Given the description of an element on the screen output the (x, y) to click on. 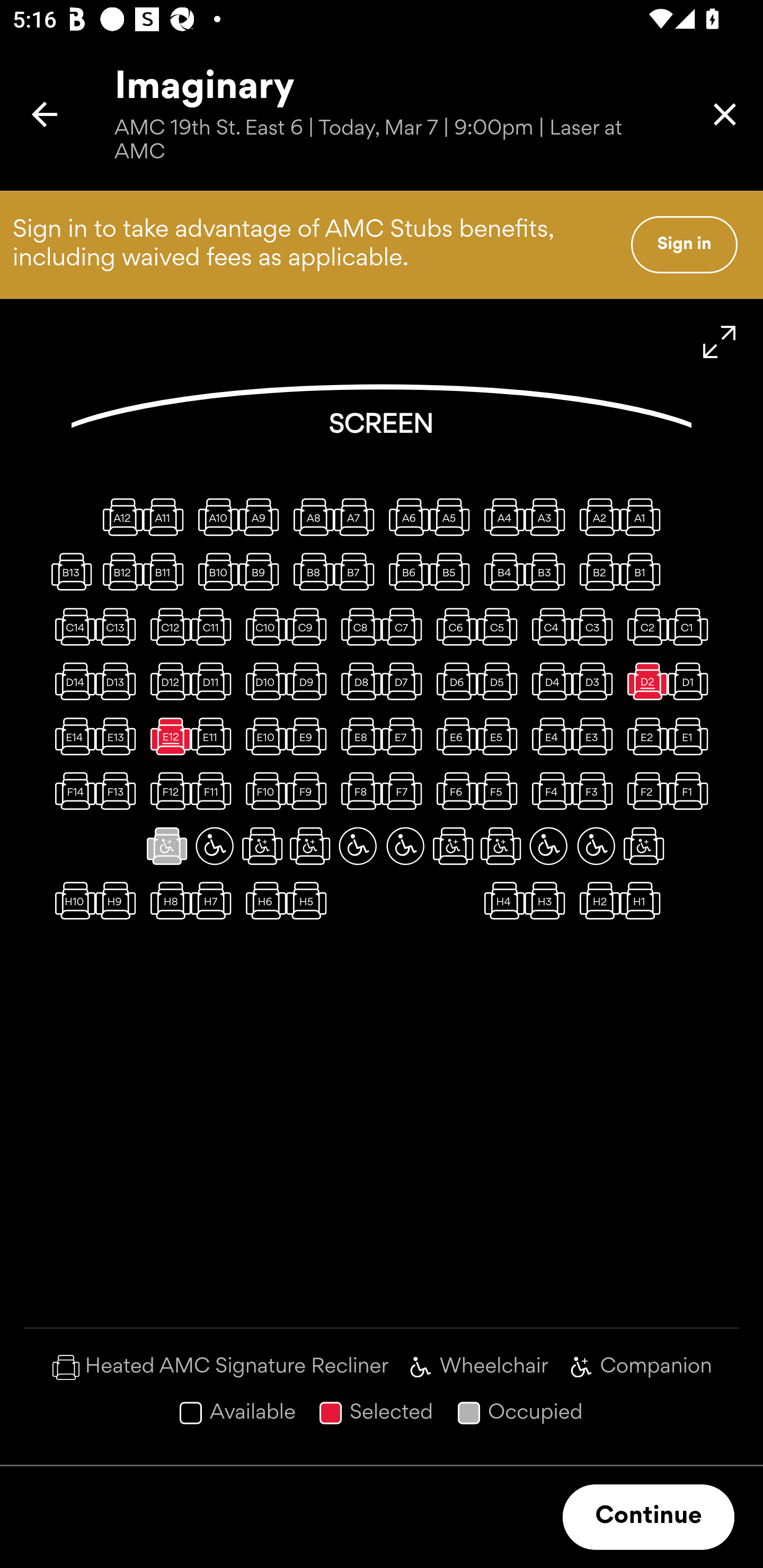
Back (44, 114)
Close (724, 114)
Sign in (684, 244)
Zoom (719, 342)
A12, Regular seat, available (119, 516)
A11, Regular seat, available (166, 516)
A10, Regular seat, available (214, 516)
A9, Regular seat, available (262, 516)
A8, Regular seat, available (310, 516)
A7, Regular seat, available (357, 516)
A6, Regular seat, available (404, 516)
A5, Regular seat, available (452, 516)
A4, Regular seat, available (500, 516)
A3, Regular seat, available (548, 516)
A2, Regular seat, available (595, 516)
A1, Regular seat, available (643, 516)
B13, Regular seat, available (71, 571)
B12, Regular seat, available (119, 571)
B11, Regular seat, available (166, 571)
B10, Regular seat, available (214, 571)
B9, Regular seat, available (262, 571)
B8, Regular seat, available (310, 571)
B7, Regular seat, available (357, 571)
B6, Regular seat, available (404, 571)
B5, Regular seat, available (452, 571)
B4, Regular seat, available (500, 571)
B3, Regular seat, available (548, 571)
B2, Regular seat, available (595, 571)
B1, Regular seat, available (643, 571)
C14, Regular seat, available (71, 625)
C13, Regular seat, available (119, 625)
C12, Regular seat, available (166, 625)
C11, Regular seat, available (214, 625)
C10, Regular seat, available (262, 625)
C9, Regular seat, available (310, 625)
C8, Regular seat, available (357, 625)
C7, Regular seat, available (404, 625)
C6, Regular seat, available (452, 625)
C5, Regular seat, available (500, 625)
C4, Regular seat, available (548, 625)
C3, Regular seat, available (595, 625)
C2, Regular seat, available (643, 625)
C1, Regular seat, available (691, 625)
D14, Regular seat, available (71, 680)
D13, Regular seat, available (119, 680)
D12, Regular seat, available (166, 680)
D11, Regular seat, available (214, 680)
D10, Regular seat, available (262, 680)
D9, Regular seat, available (310, 680)
D8, Regular seat, available (357, 680)
D7, Regular seat, available (404, 680)
D6, Regular seat, available (452, 680)
D5, Regular seat, available (500, 680)
D4, Regular seat, available (548, 680)
D3, Regular seat, available (595, 680)
D2, Regular seat, selected (643, 680)
D1, Regular seat, available (691, 680)
E14, Regular seat, available (71, 735)
E13, Regular seat, available (119, 735)
E12, Regular seat, selected (166, 735)
E11, Regular seat, available (214, 735)
E10, Regular seat, available (262, 735)
E9, Regular seat, available (310, 735)
E8, Regular seat, available (357, 735)
E7, Regular seat, available (404, 735)
E6, Regular seat, available (452, 735)
E5, Regular seat, available (500, 735)
E4, Regular seat, available (548, 735)
E3, Regular seat, available (595, 735)
E2, Regular seat, available (643, 735)
E1, Regular seat, available (691, 735)
F14, Regular seat, available (71, 790)
F13, Regular seat, available (119, 790)
F12, Regular seat, available (166, 790)
F11, Regular seat, available (214, 790)
F10, Regular seat, available (262, 790)
F9, Regular seat, available (310, 790)
F8, Regular seat, available (357, 790)
F7, Regular seat, available (404, 790)
F6, Regular seat, available (452, 790)
F5, Regular seat, available (500, 790)
F4, Regular seat, available (548, 790)
F3, Regular seat, available (595, 790)
F2, Regular seat, available (643, 790)
F1, Regular seat, available (691, 790)
G10, Wheelchair space, available (214, 845)
G9, Wheelchair companion seat, available (262, 845)
G8, Wheelchair companion seat, available (310, 845)
G7, Wheelchair space, available (357, 845)
G6, Wheelchair space, available (404, 845)
G5, Wheelchair companion seat, available (452, 845)
G4, Wheelchair companion seat, available (500, 845)
G3, Wheelchair space, available (548, 845)
G2, Wheelchair space, available (595, 845)
G1, Wheelchair companion seat, available (643, 845)
H10, Regular seat, available (71, 900)
H9, Regular seat, available (119, 900)
H8, Regular seat, available (166, 900)
H7, Regular seat, available (214, 900)
H6, Regular seat, available (262, 900)
H5, Regular seat, available (310, 900)
H4, Regular seat, available (500, 900)
H3, Regular seat, available (548, 900)
H2, Regular seat, available (595, 900)
H1, Regular seat, available (643, 900)
Continue (648, 1516)
